Given the description of an element on the screen output the (x, y) to click on. 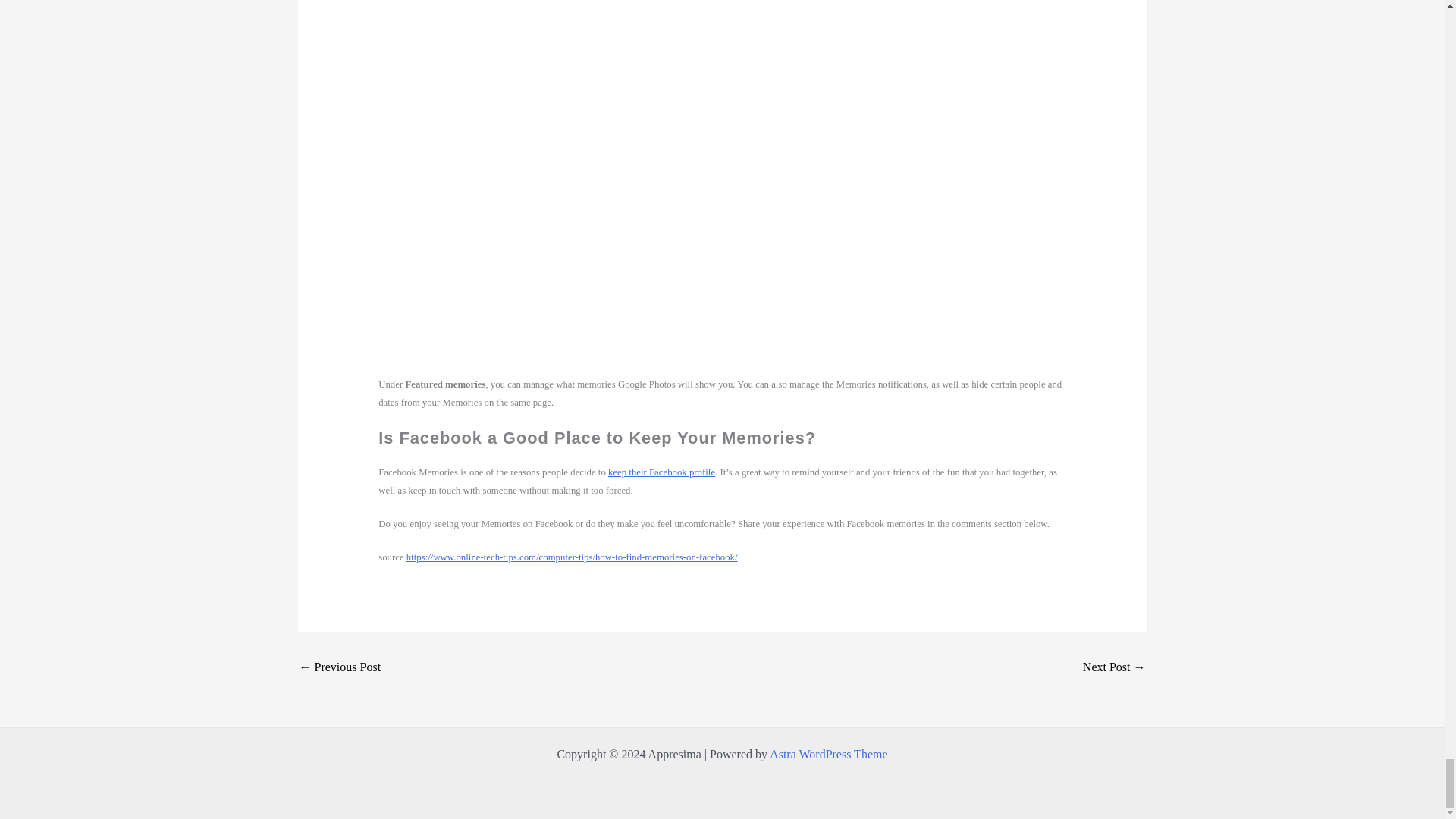
keep their Facebook profile (661, 471)
Slack vs Discord: Which Is Better? (1114, 666)
How to Insert a Signature in Google Docs (339, 666)
Astra WordPress Theme (828, 753)
